Given the description of an element on the screen output the (x, y) to click on. 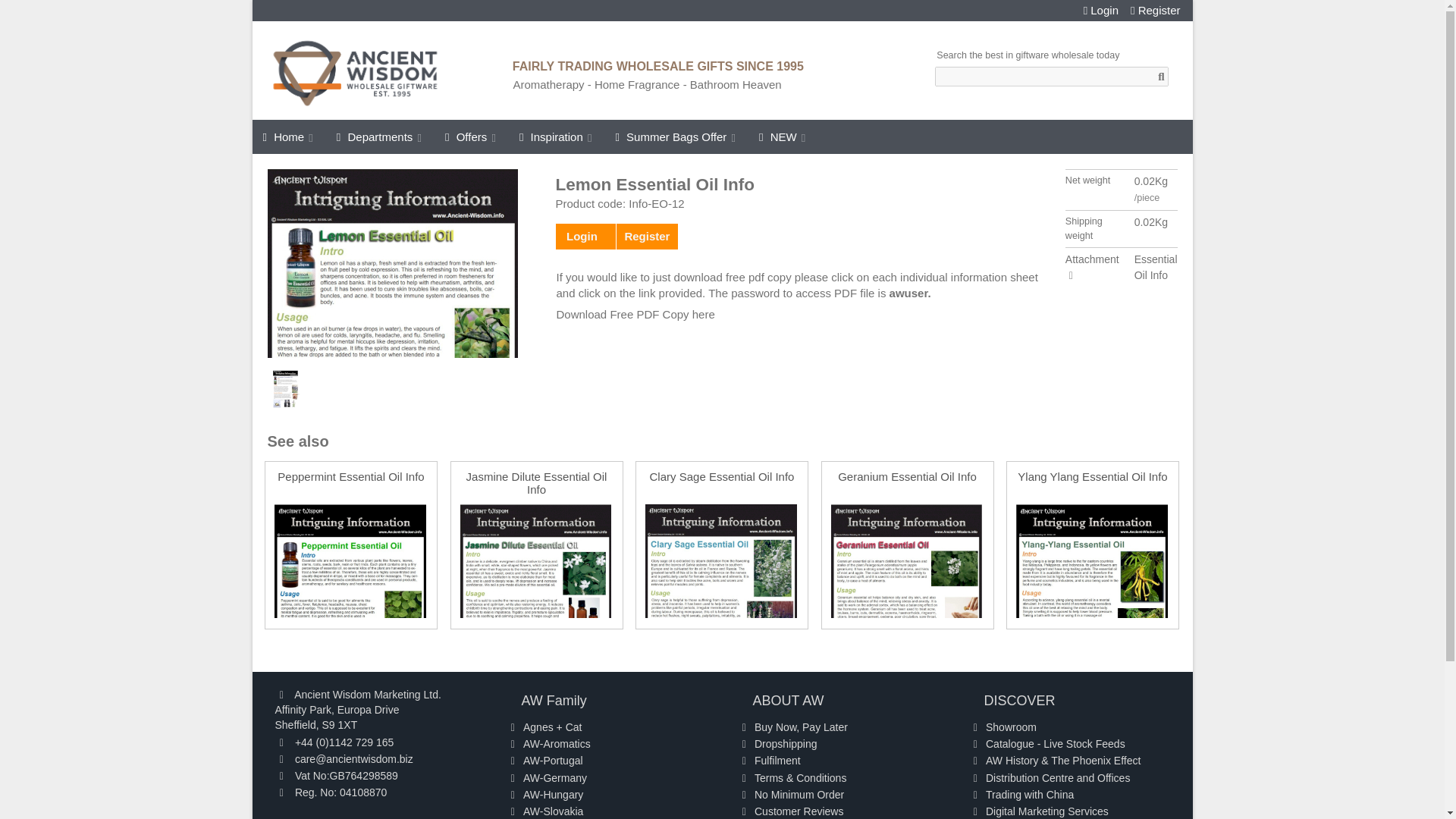
Departments (379, 136)
Offers (470, 136)
Inspiration (556, 136)
Login (1100, 10)
Summer Bags Offer (676, 136)
Home (287, 136)
Register (1155, 10)
NEW (783, 136)
